Given the description of an element on the screen output the (x, y) to click on. 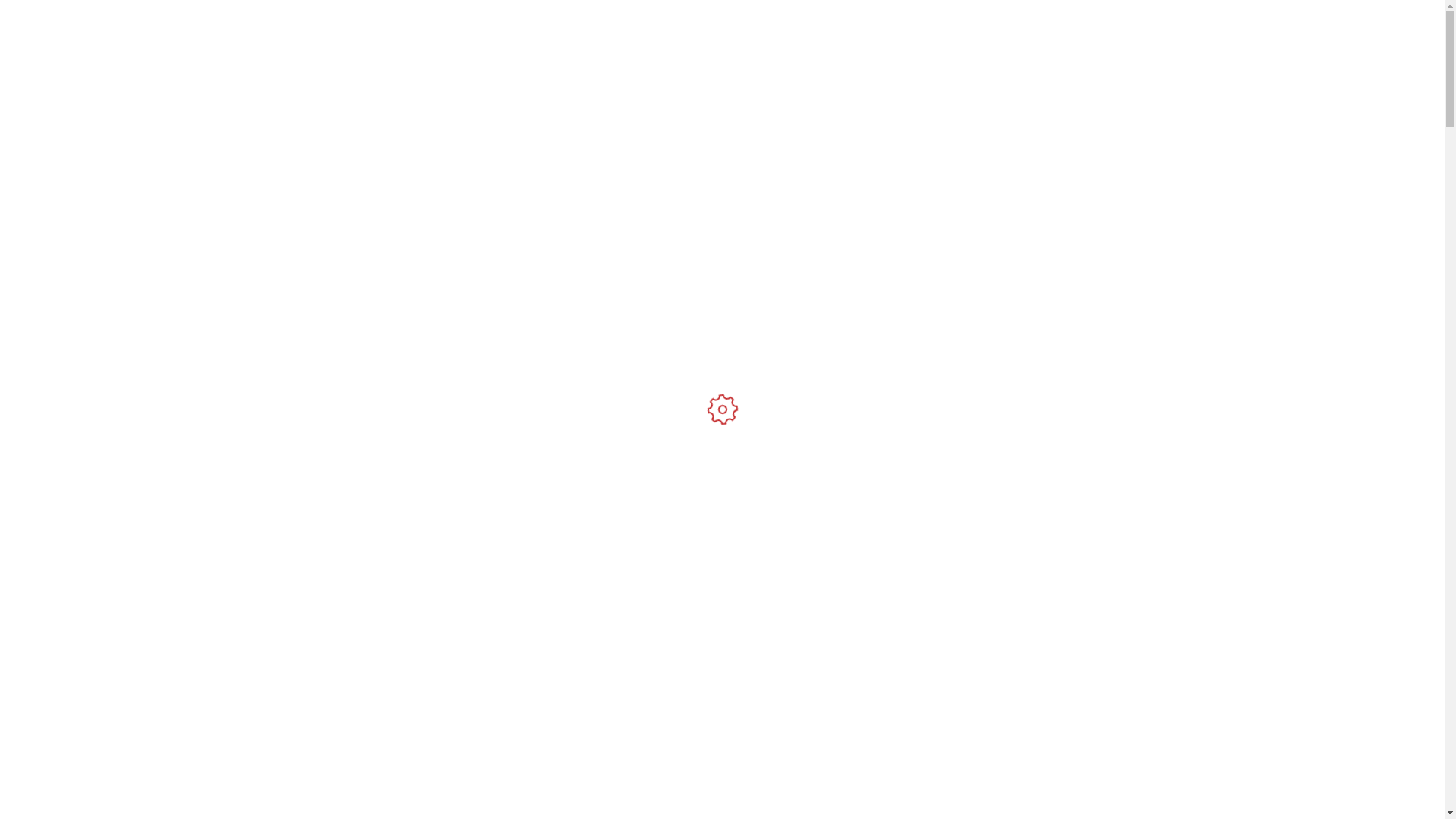
O NAMA Element type: text (912, 49)
TRGOVINA Element type: text (1055, 49)
KONTAKT Element type: text (1124, 49)
NASLOVNA Element type: text (841, 49)
ARTIKLI Element type: text (981, 49)
O NAMA Element type: text (721, 334)
